Given the description of an element on the screen output the (x, y) to click on. 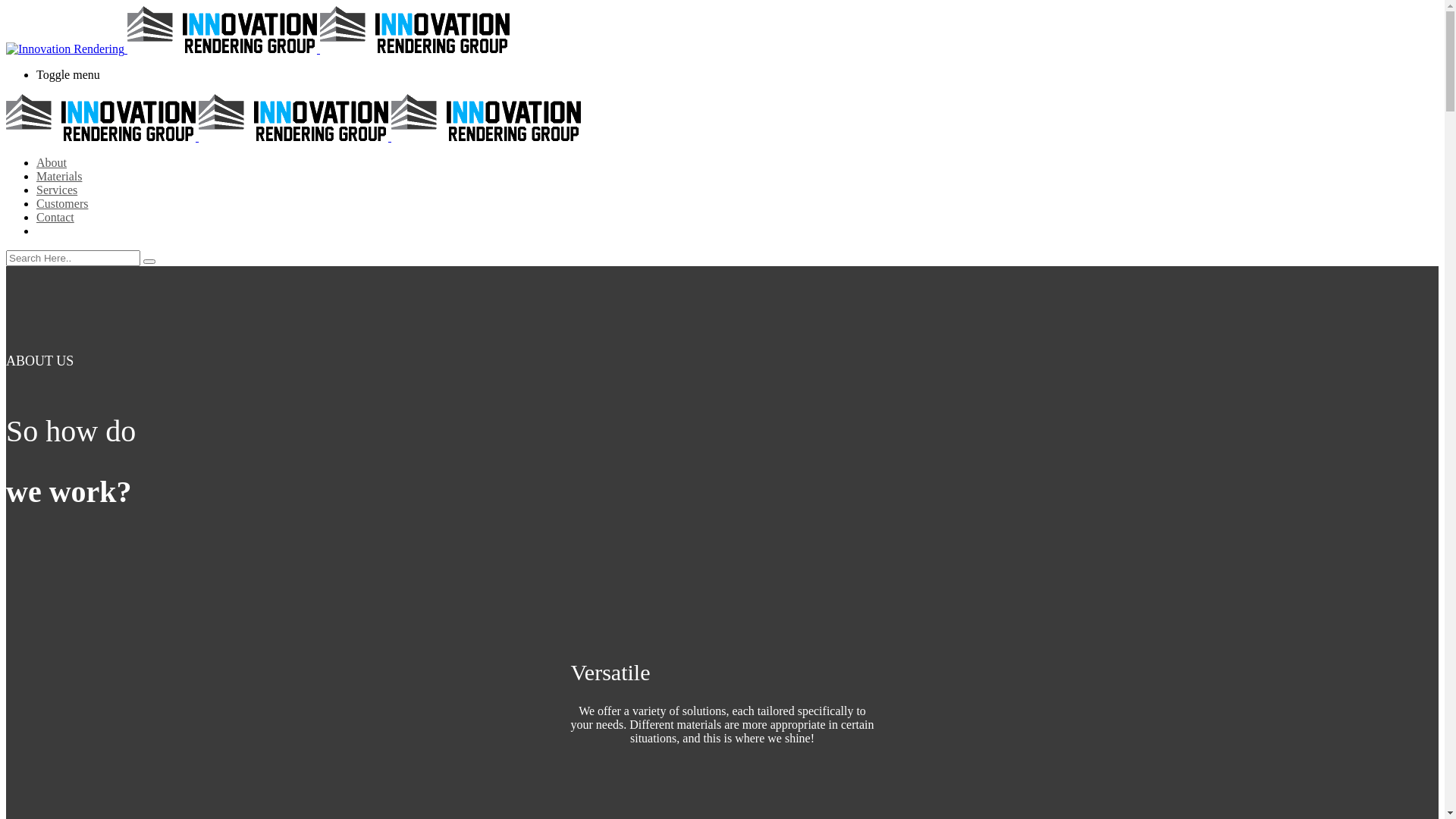
About Element type: text (51, 162)
Services Element type: text (56, 189)
Contact Element type: text (55, 216)
Customers Element type: text (61, 203)
Materials Element type: text (58, 175)
Toggle menu Element type: text (737, 74)
